Given the description of an element on the screen output the (x, y) to click on. 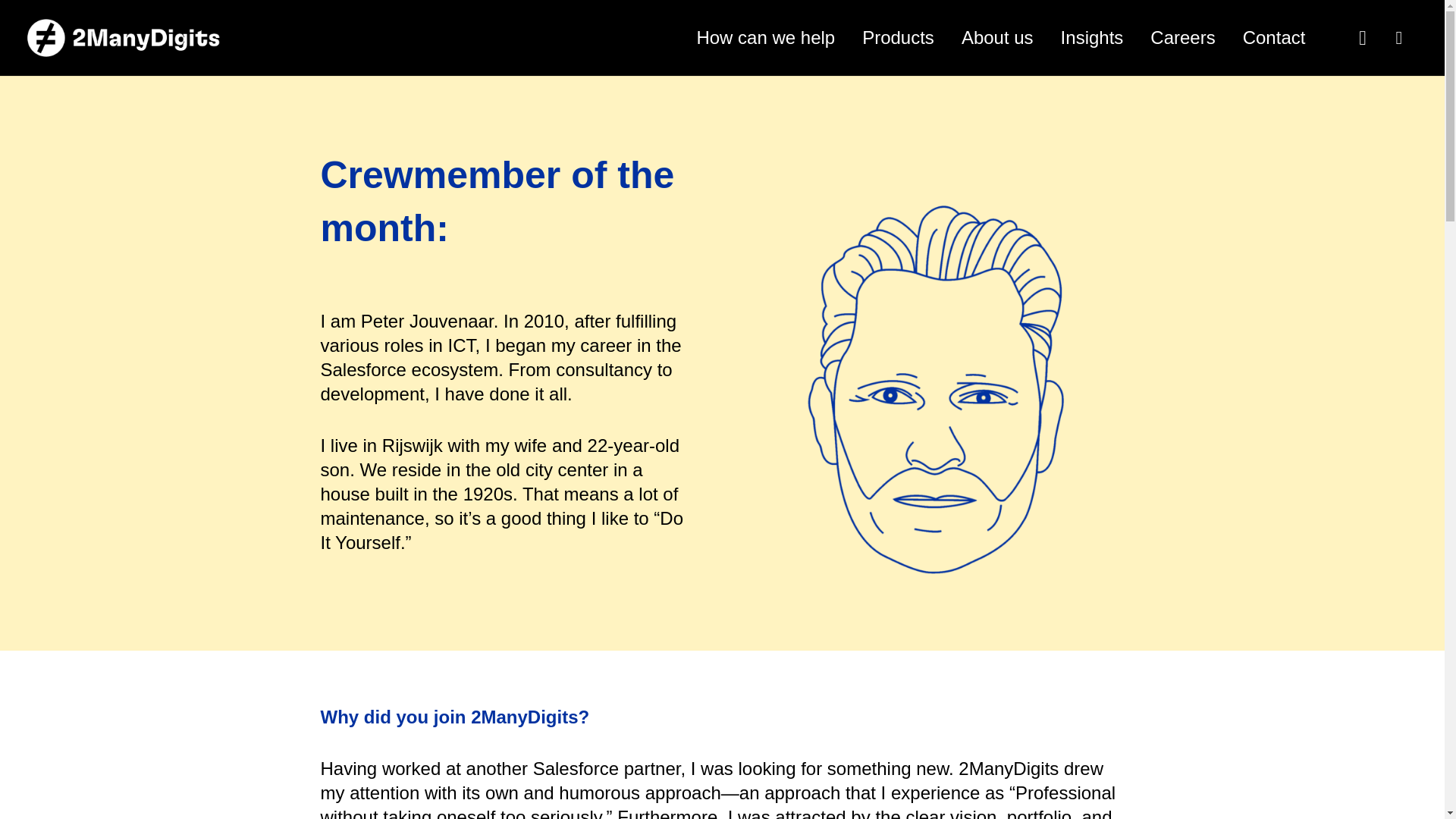
Insights (1091, 37)
How can we help (765, 37)
Contact (1273, 37)
LinkedIn (1398, 37)
About us (996, 37)
Careers (1182, 37)
Products (897, 37)
Instagram (1361, 37)
